Given the description of an element on the screen output the (x, y) to click on. 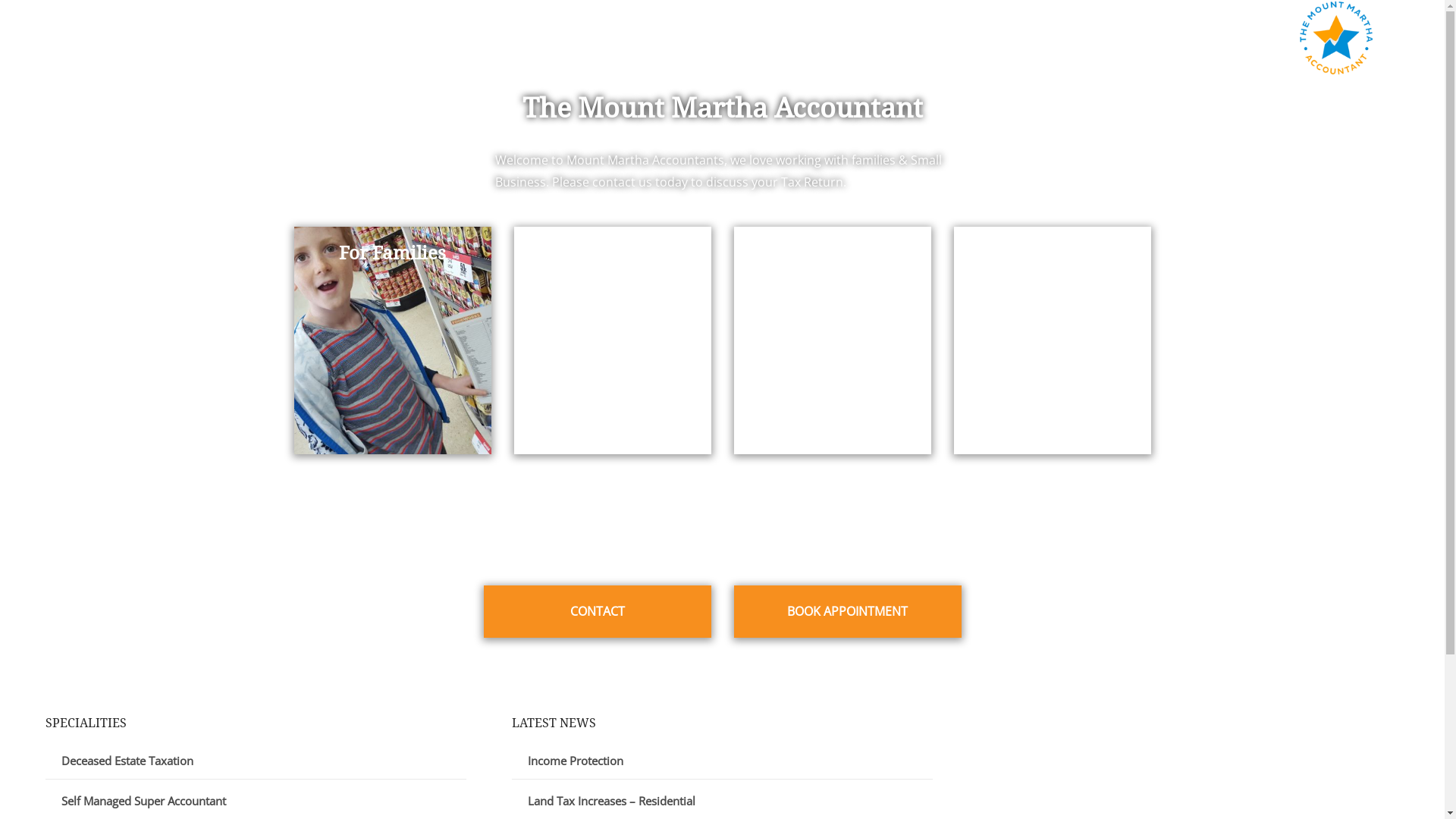
BOOK APPOINTMENT Element type: text (846, 617)
Income Protection Element type: text (575, 760)
CONTACT Element type: text (596, 617)
Self Managed Super Accountant Element type: text (143, 800)
Deceased Estate Taxation Element type: text (127, 760)
